Given the description of an element on the screen output the (x, y) to click on. 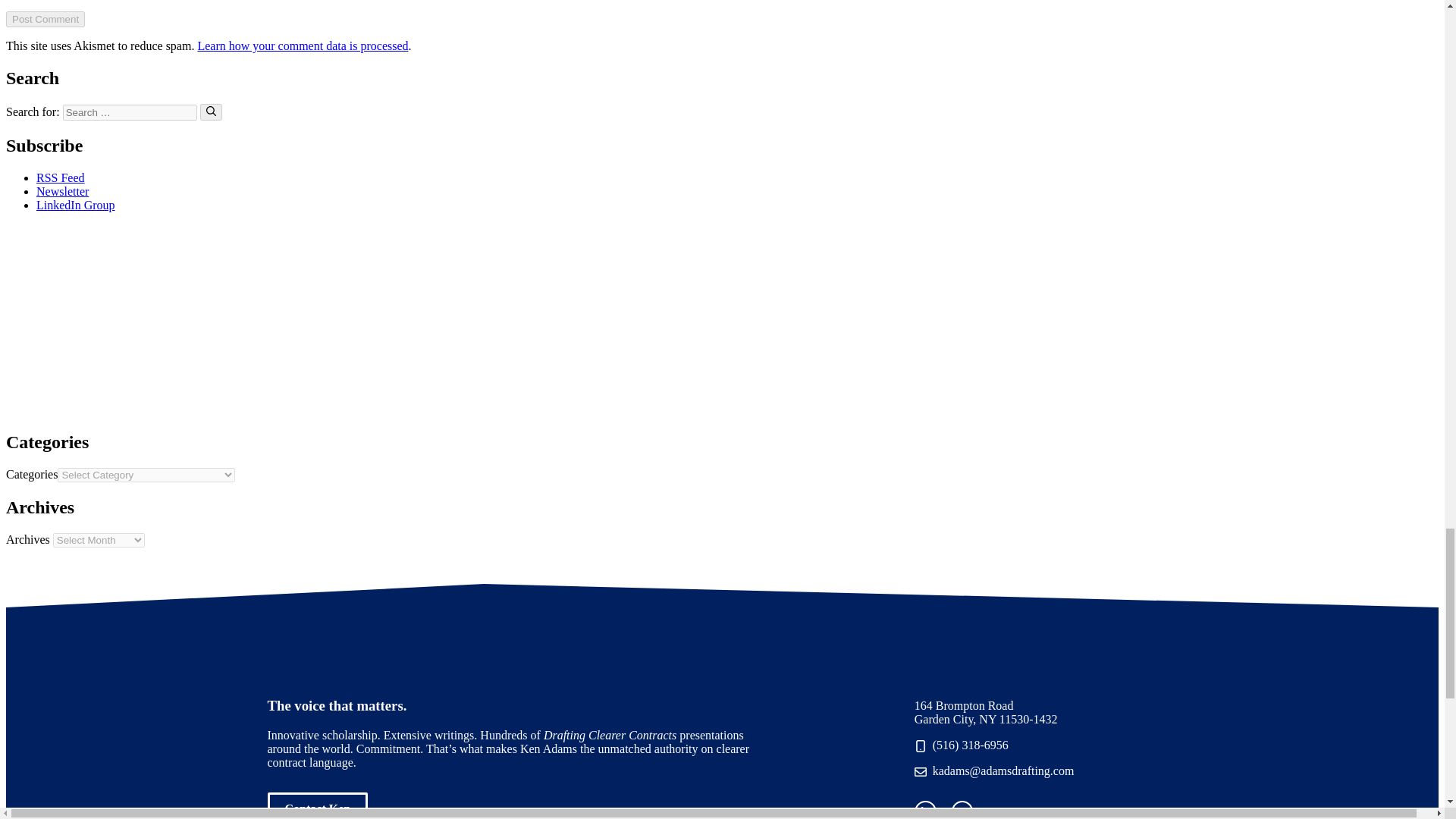
Learn how your comment data is processed (301, 45)
Contact Ken (317, 805)
RSS Feed (60, 177)
LinkedIn Group (75, 205)
Search for: (129, 112)
Post Comment (44, 19)
Post Comment (44, 19)
Newsletter (62, 191)
